Given the description of an element on the screen output the (x, y) to click on. 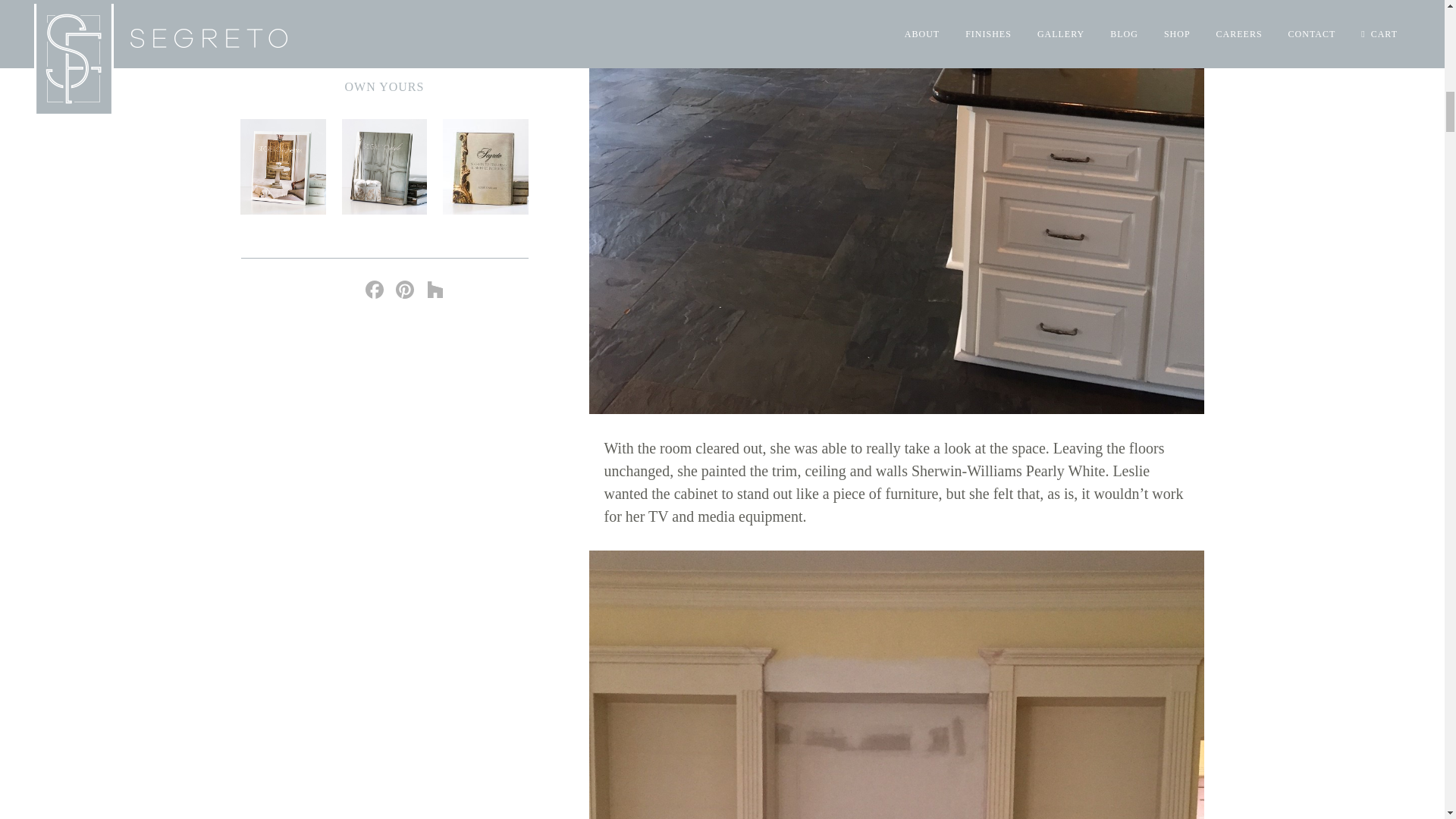
Pinterest (405, 291)
Facebook (374, 291)
Houzz (434, 291)
Facebook (374, 291)
Houzz (434, 291)
Pinterest (405, 291)
